Given the description of an element on the screen output the (x, y) to click on. 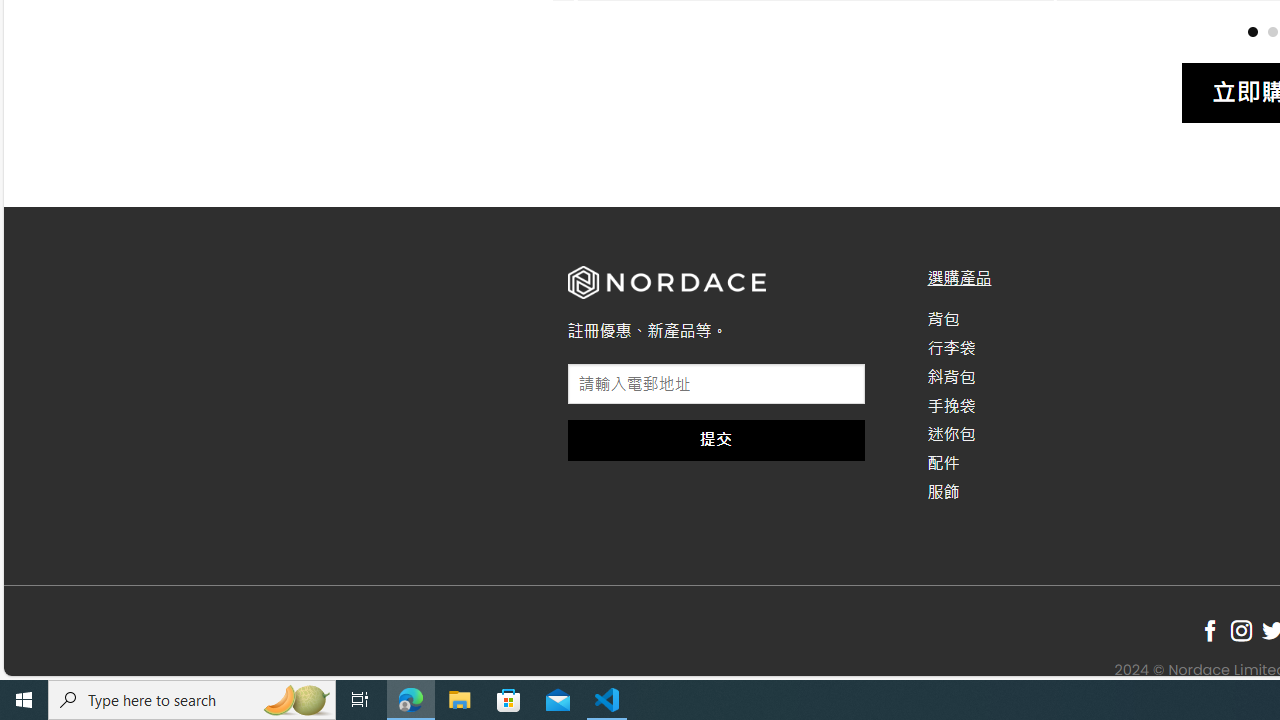
AutomationID: field_4_1 (716, 386)
